Given the description of an element on the screen output the (x, y) to click on. 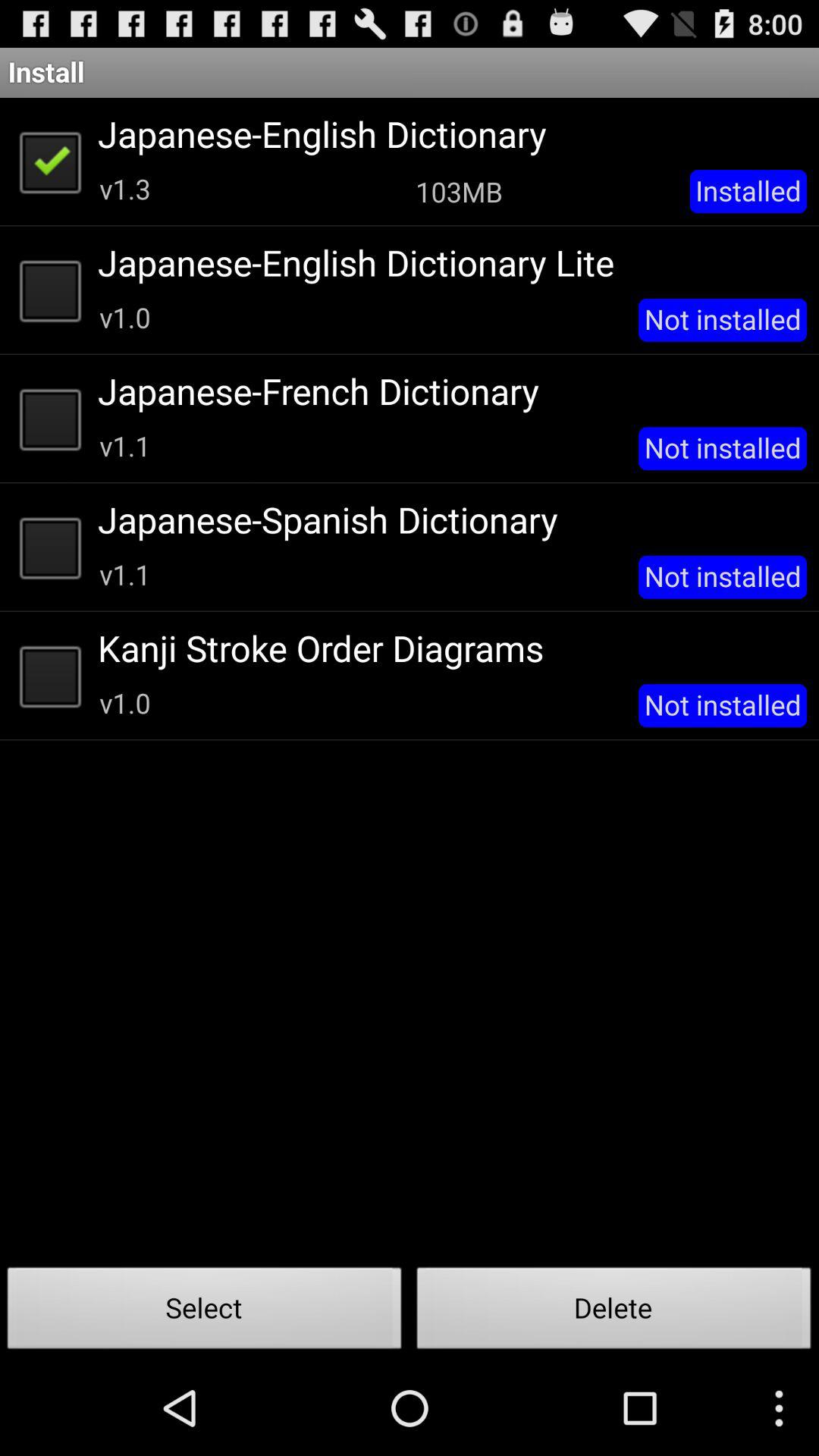
jump until 103mb item (458, 191)
